Given the description of an element on the screen output the (x, y) to click on. 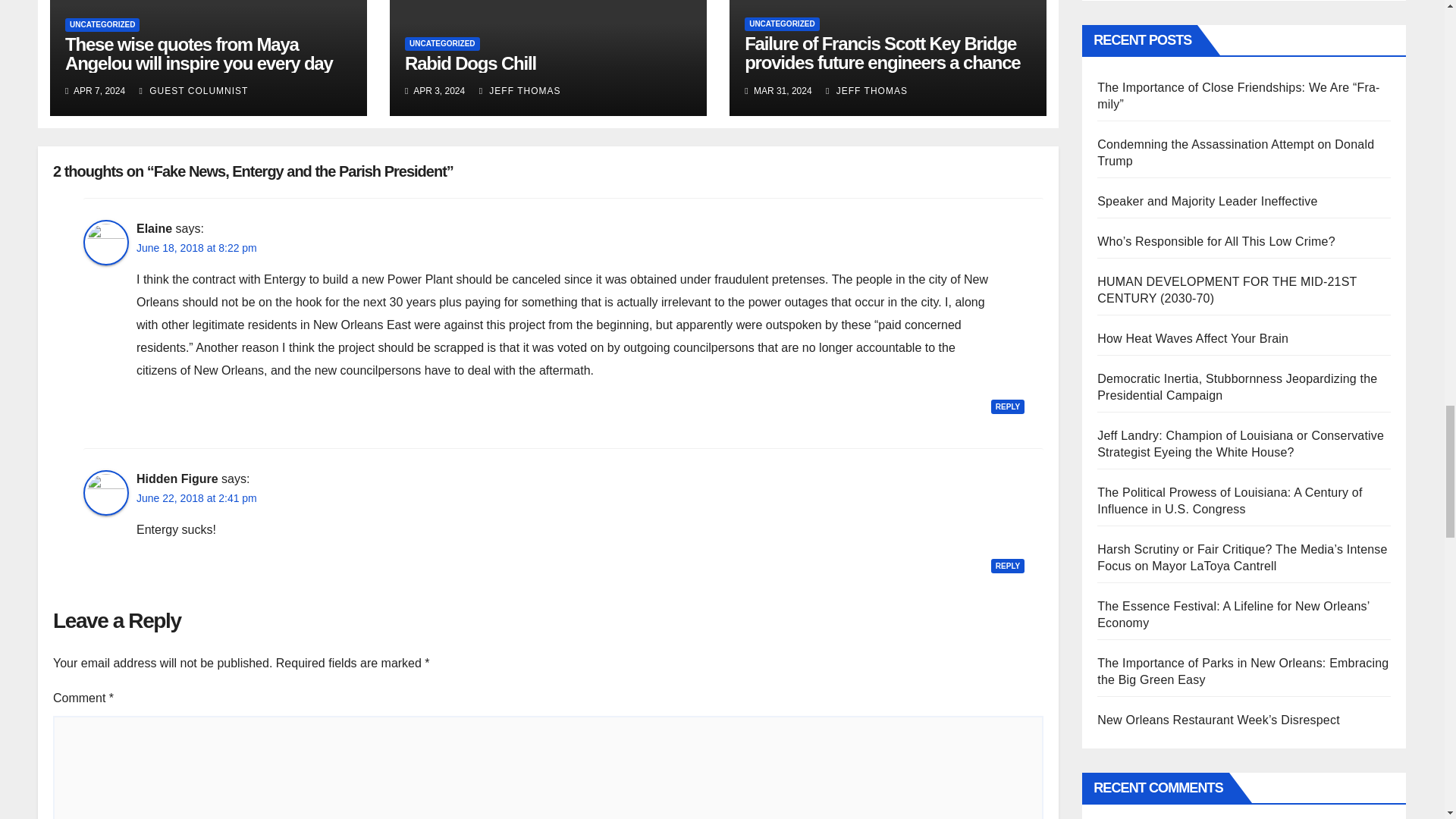
UNCATEGORIZED (102, 24)
June 18, 2018 at 8:22 pm (196, 248)
June 22, 2018 at 2:41 pm (196, 498)
UNCATEGORIZED (441, 43)
JEFF THOMAS (866, 90)
JEFF THOMAS (519, 90)
GUEST COLUMNIST (193, 90)
REPLY (1008, 565)
Rabid Dogs Chill (469, 63)
REPLY (1008, 406)
UNCATEGORIZED (781, 24)
